Given the description of an element on the screen output the (x, y) to click on. 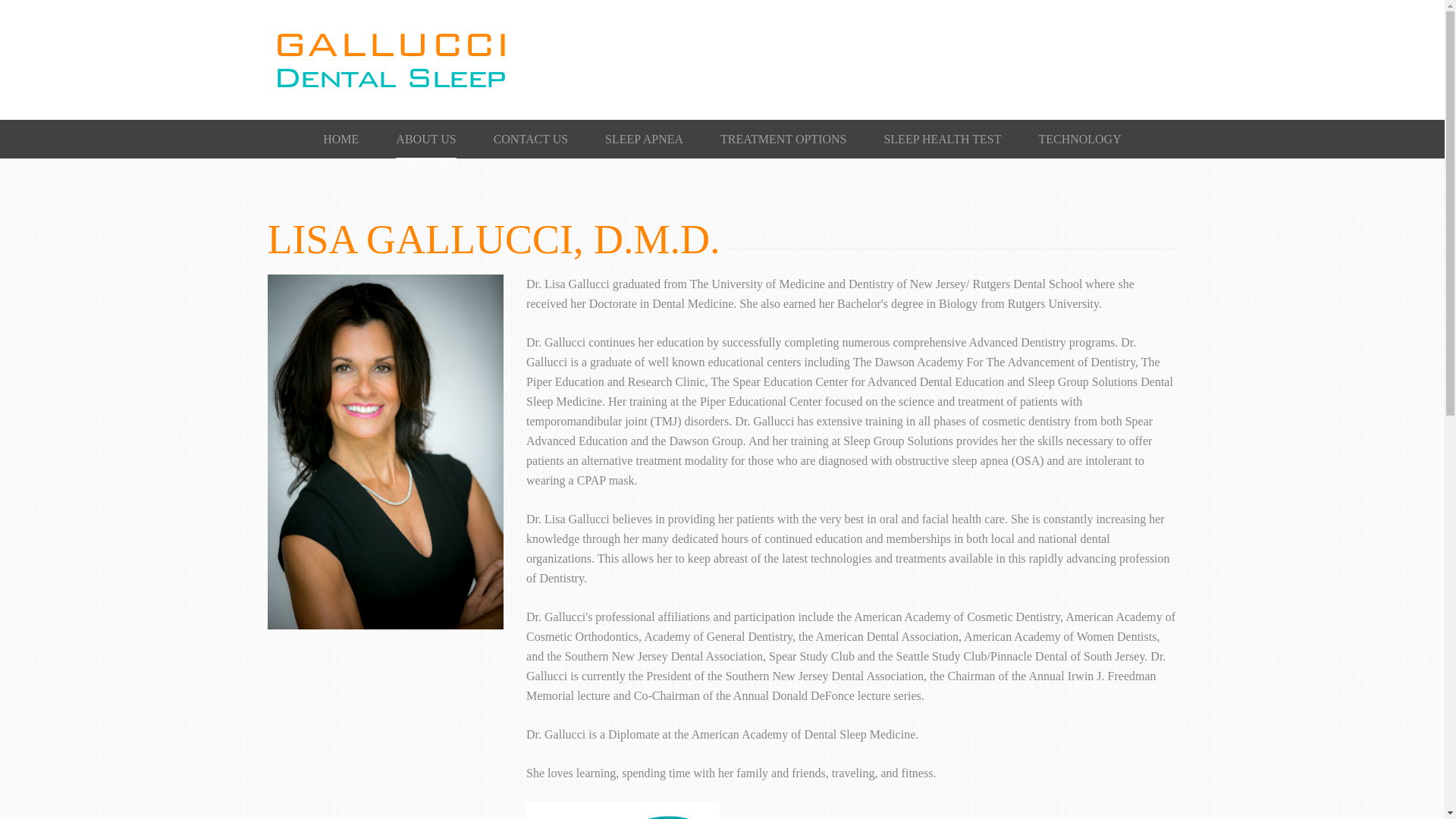
HOME (340, 138)
ABOUT US (425, 139)
TECHNOLOGY (1079, 138)
SLEEP HEALTH TEST (942, 138)
CONTACT US (530, 138)
Gallucci Dental Sleep (389, 20)
SLEEP APNEA (643, 138)
TREATMENT OPTIONS (782, 138)
